Given the description of an element on the screen output the (x, y) to click on. 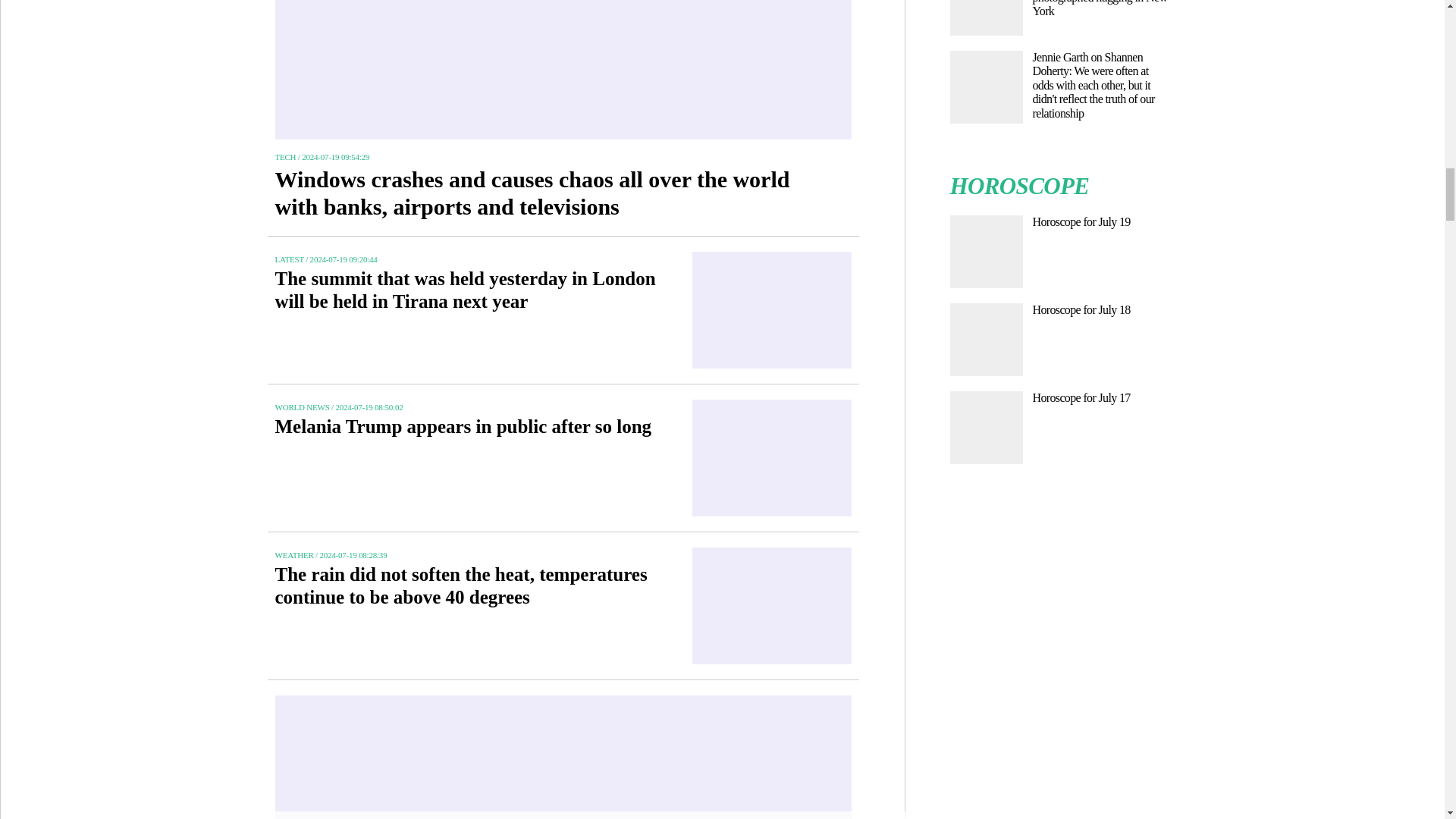
Melania Trump appears in public after so long (471, 434)
